Given the description of an element on the screen output the (x, y) to click on. 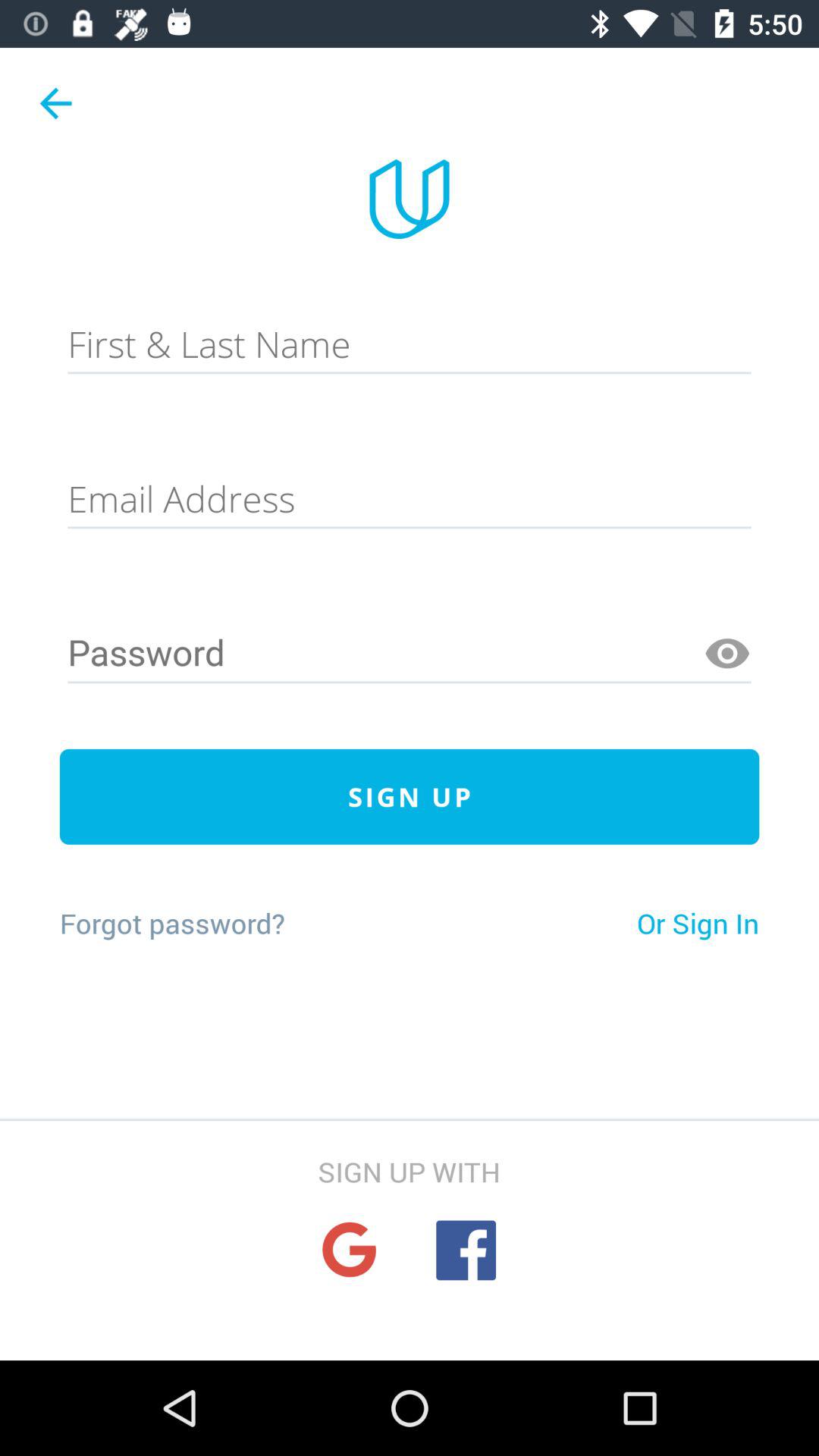
facebook sign-up option (465, 1250)
